Given the description of an element on the screen output the (x, y) to click on. 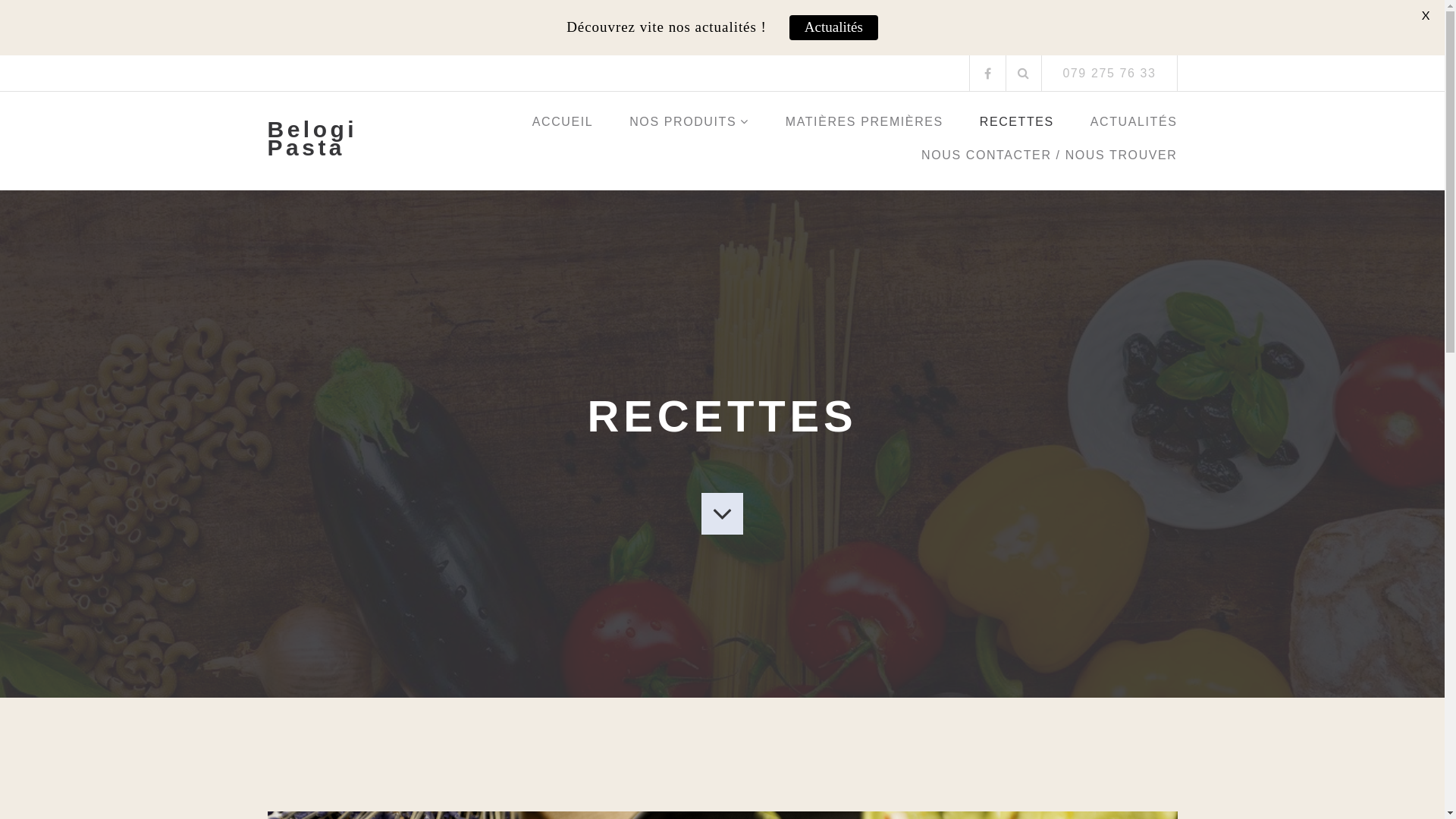
NOS PRODUITS Element type: text (689, 126)
RECETTES Element type: text (1016, 126)
ACCUEIL Element type: text (562, 126)
Belogi Pasta Element type: text (343, 138)
X Element type: text (1425, 14)
Facebook Element type: text (987, 73)
Aller au contenu Element type: text (0, 55)
NOUS CONTACTER / NOUS TROUVER Element type: text (1048, 160)
